Given the description of an element on the screen output the (x, y) to click on. 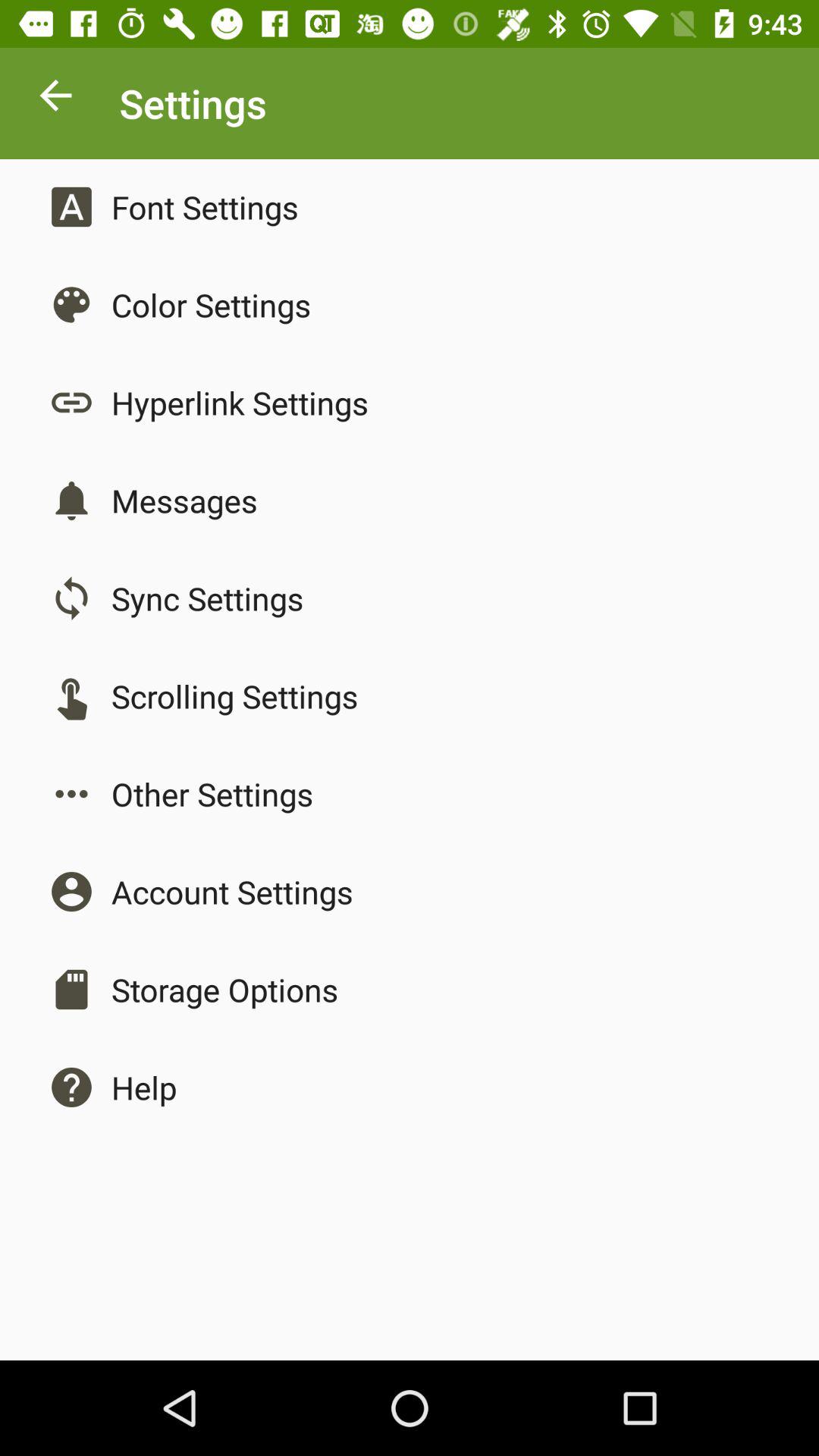
jump to account settings icon (232, 891)
